Given the description of an element on the screen output the (x, y) to click on. 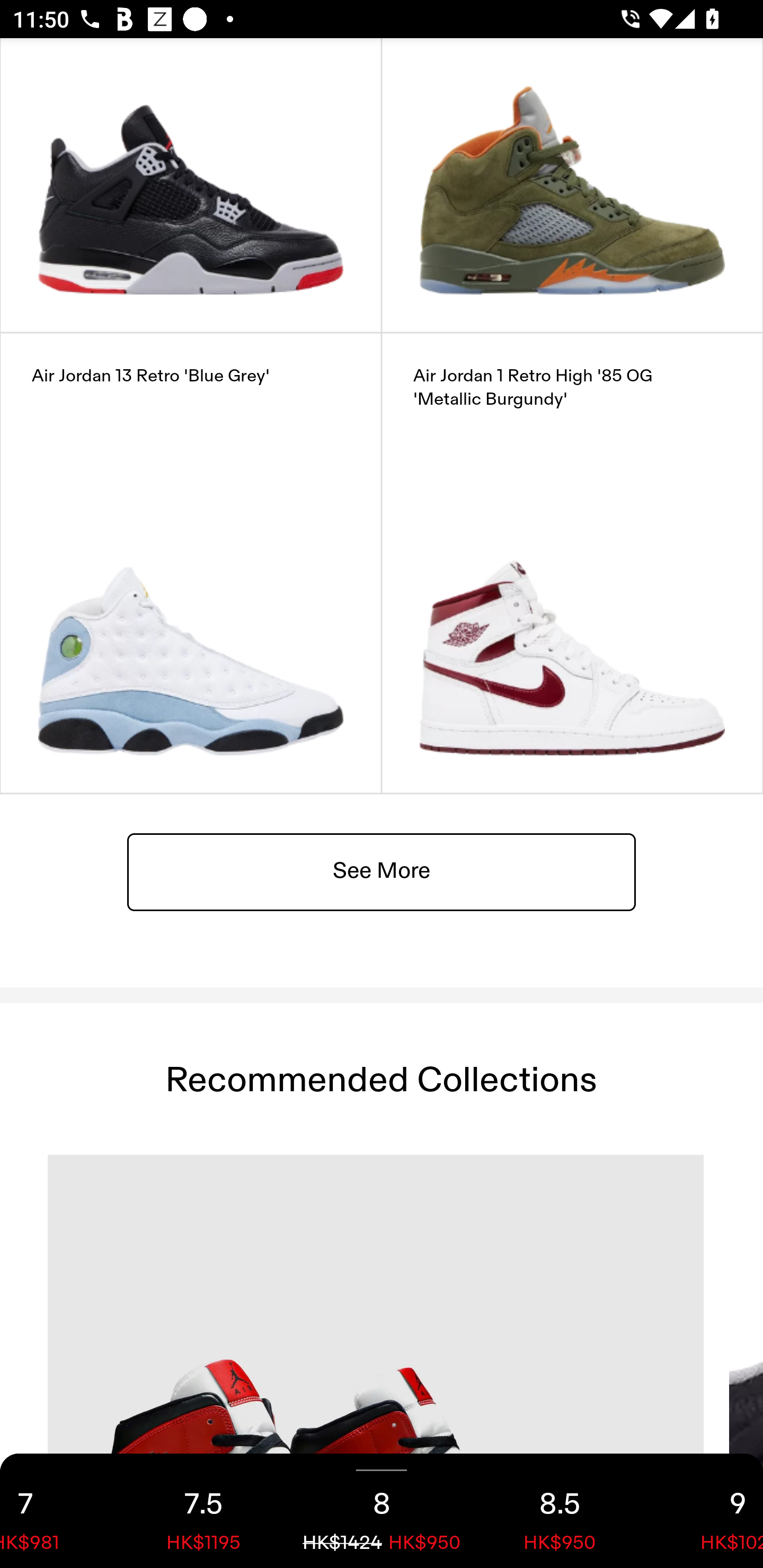
Air Jordan 13 Retro 'Blue Grey' (190, 562)
Air Jordan 1 Retro High '85 OG 'Metallic Burgundy' (572, 562)
See More (381, 871)
7 HK$981 (57, 1510)
7.5 HK$1195 (203, 1510)
8 HK$1424 HK$950 (381, 1510)
8.5 HK$950 (559, 1510)
9 HK$1021 (705, 1510)
